Given the description of an element on the screen output the (x, y) to click on. 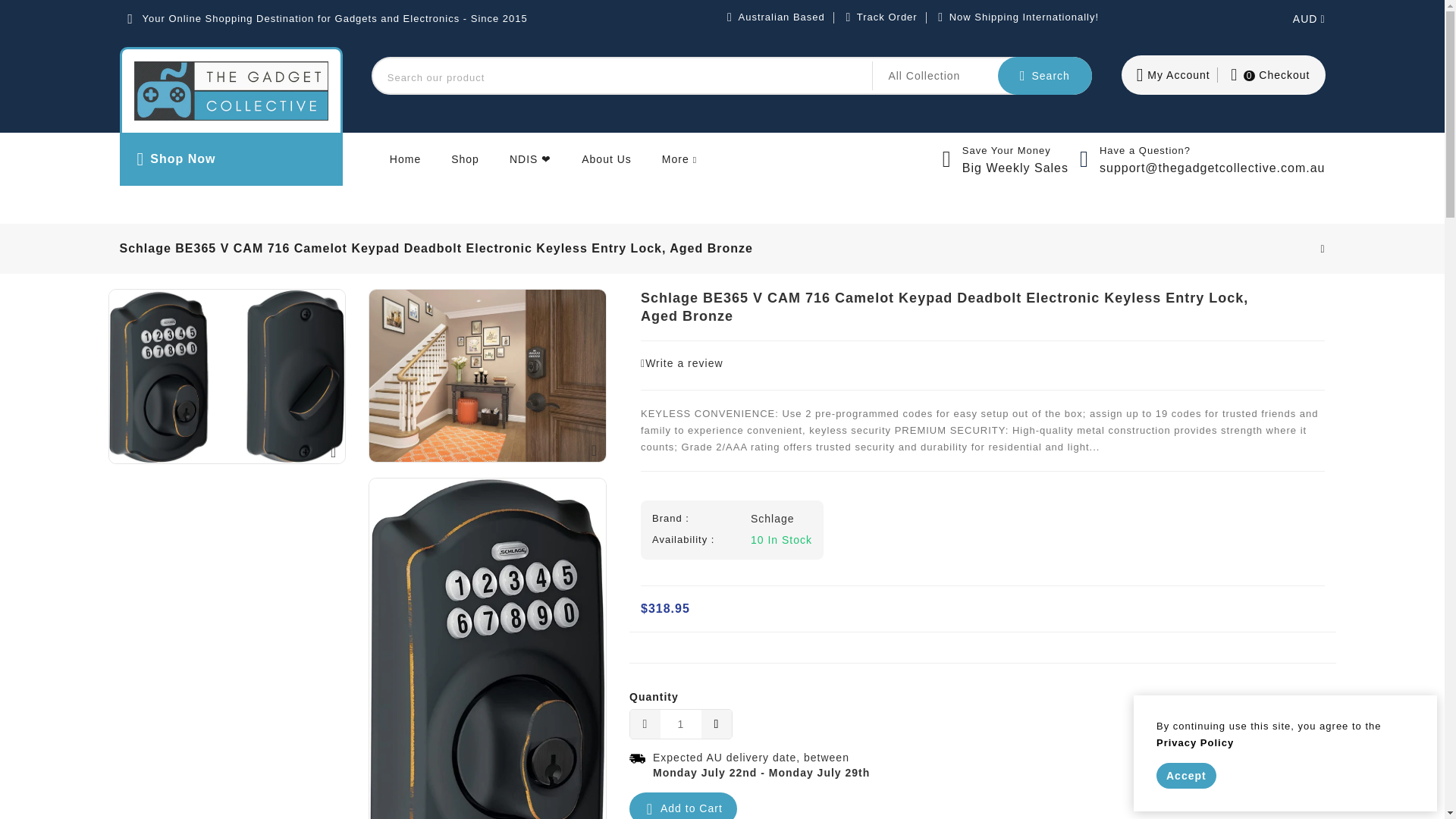
My Account (1173, 75)
Australian Based (781, 16)
Now Shipping Internationally! (1024, 16)
Search (1044, 75)
The Gadget Collective (230, 90)
Schlage (772, 518)
0Checkout (1267, 75)
Track Order (887, 16)
Your Cart (1276, 75)
1 (681, 724)
Checkout (1267, 75)
